Given the description of an element on the screen output the (x, y) to click on. 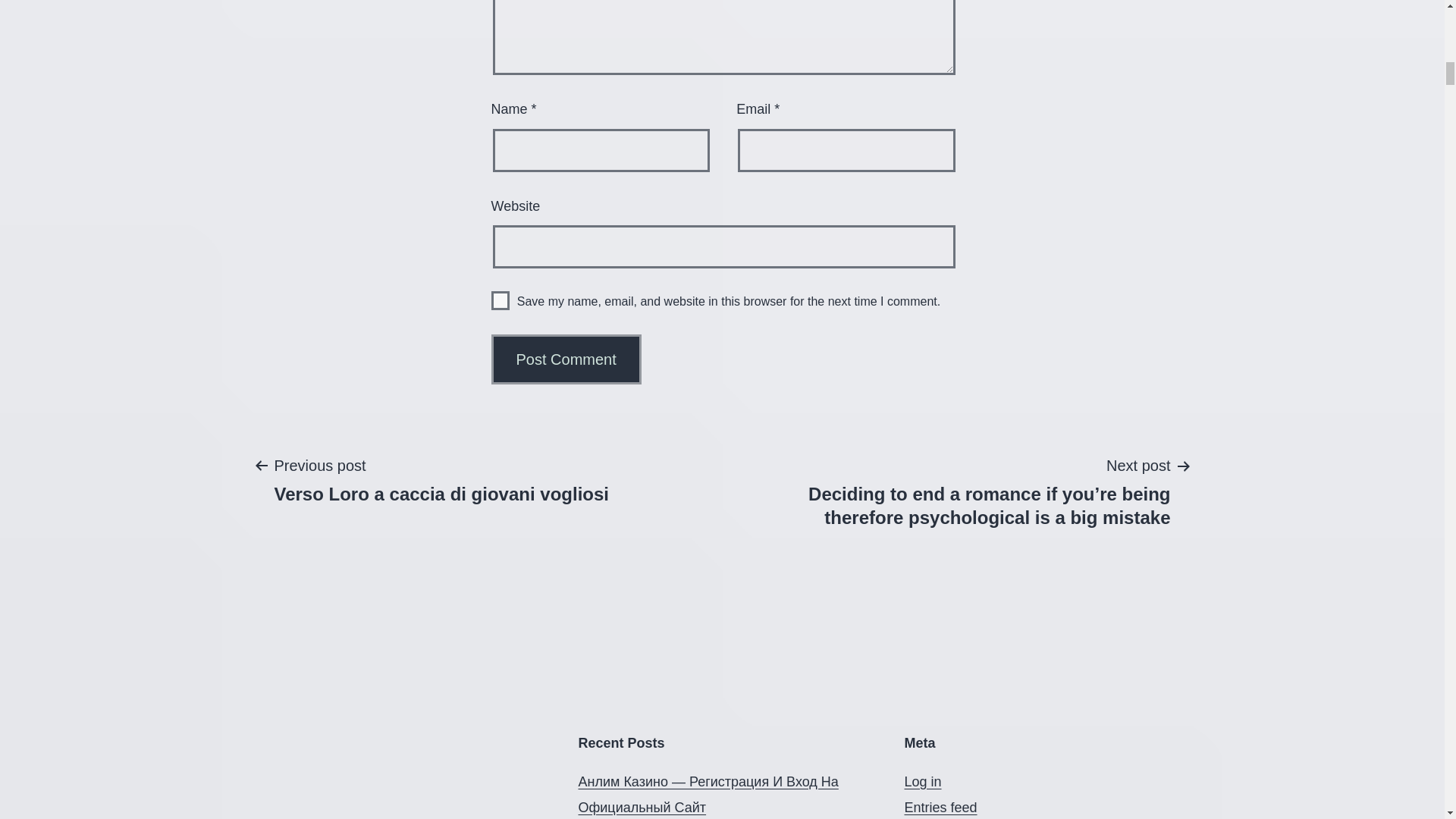
Post Comment (440, 479)
yes (567, 359)
Entries feed (500, 300)
Log in (940, 807)
Post Comment (922, 781)
